Given the description of an element on the screen output the (x, y) to click on. 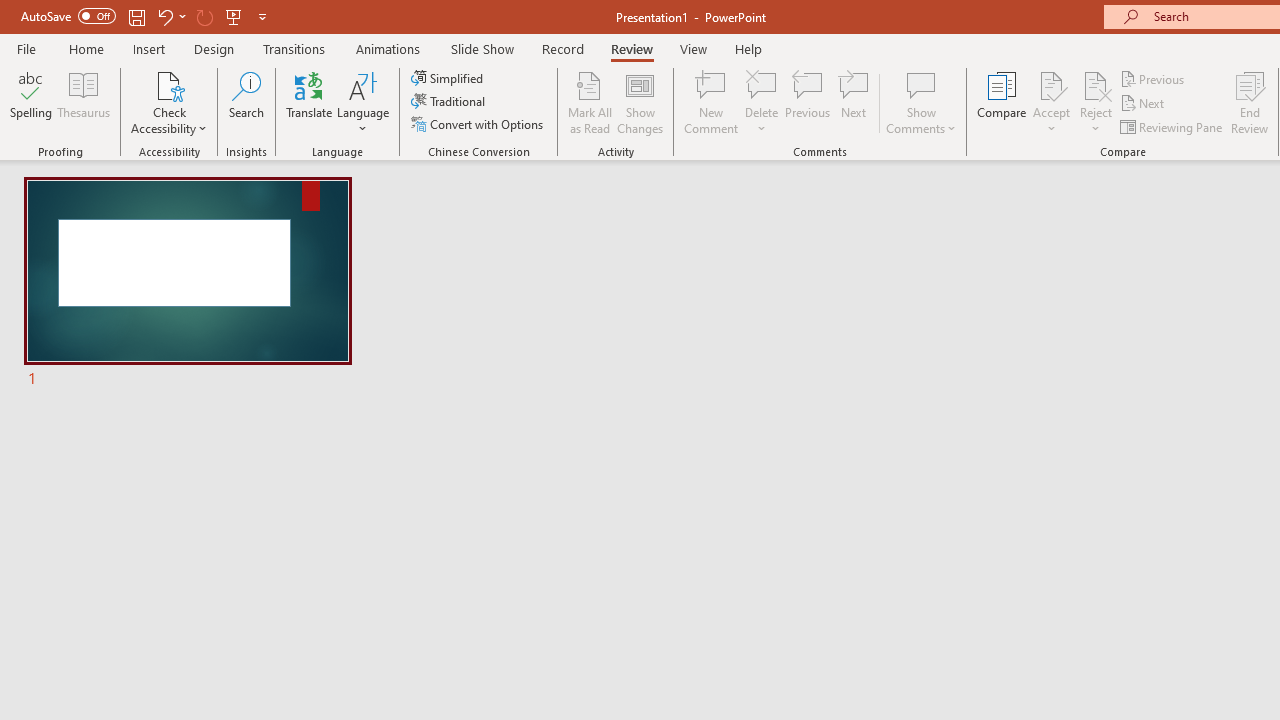
Show Changes (639, 102)
Accept (1051, 102)
Show Comments (921, 84)
Next (1144, 103)
Previous (1153, 78)
Search (246, 102)
